Given the description of an element on the screen output the (x, y) to click on. 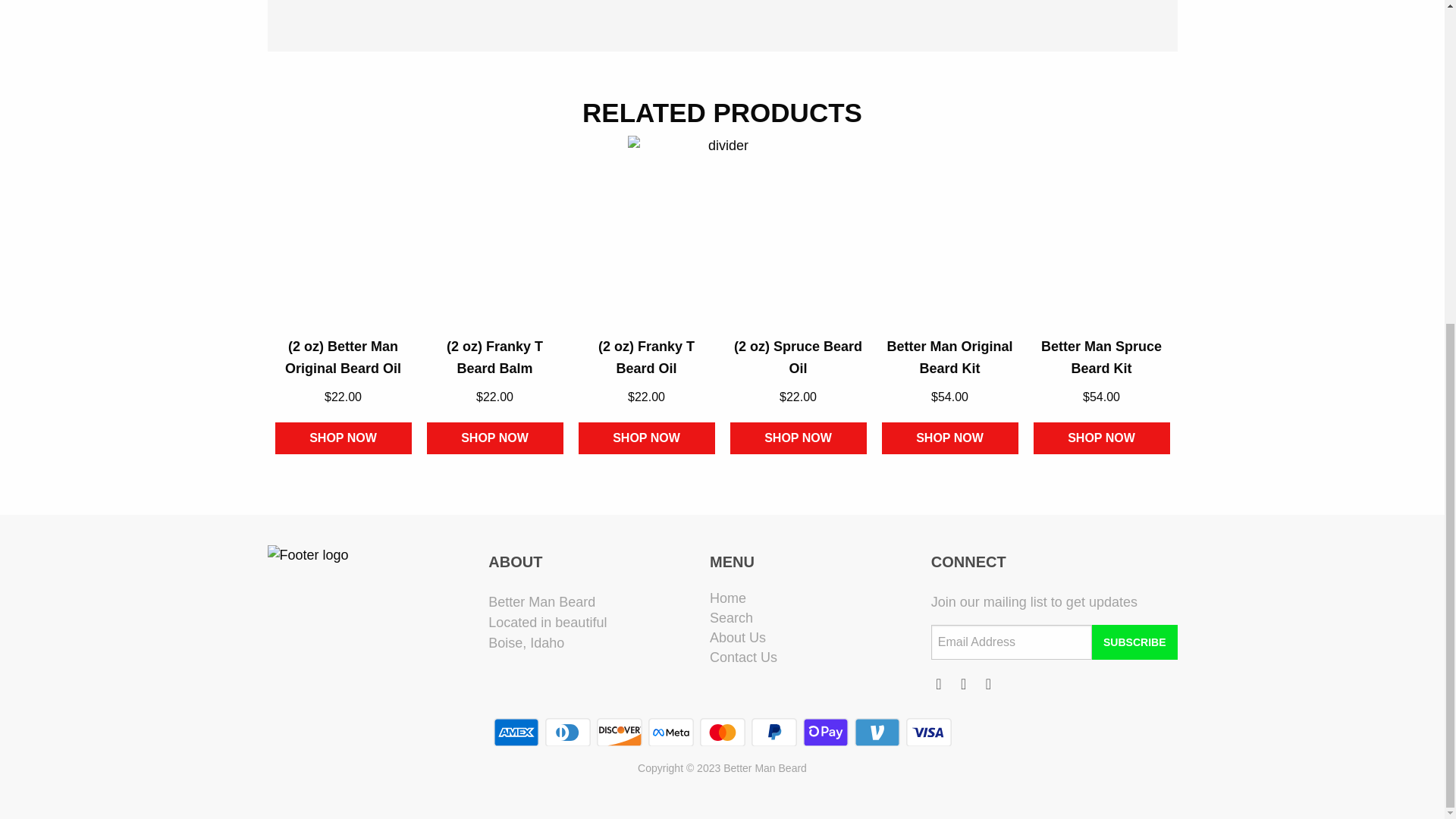
Mastercard (721, 732)
American Express (515, 732)
Discover (618, 732)
Meta Pay (670, 732)
Shop Pay (824, 732)
Venmo (876, 732)
Diners Club (566, 732)
PayPal (773, 732)
Visa (927, 732)
